Given the description of an element on the screen output the (x, y) to click on. 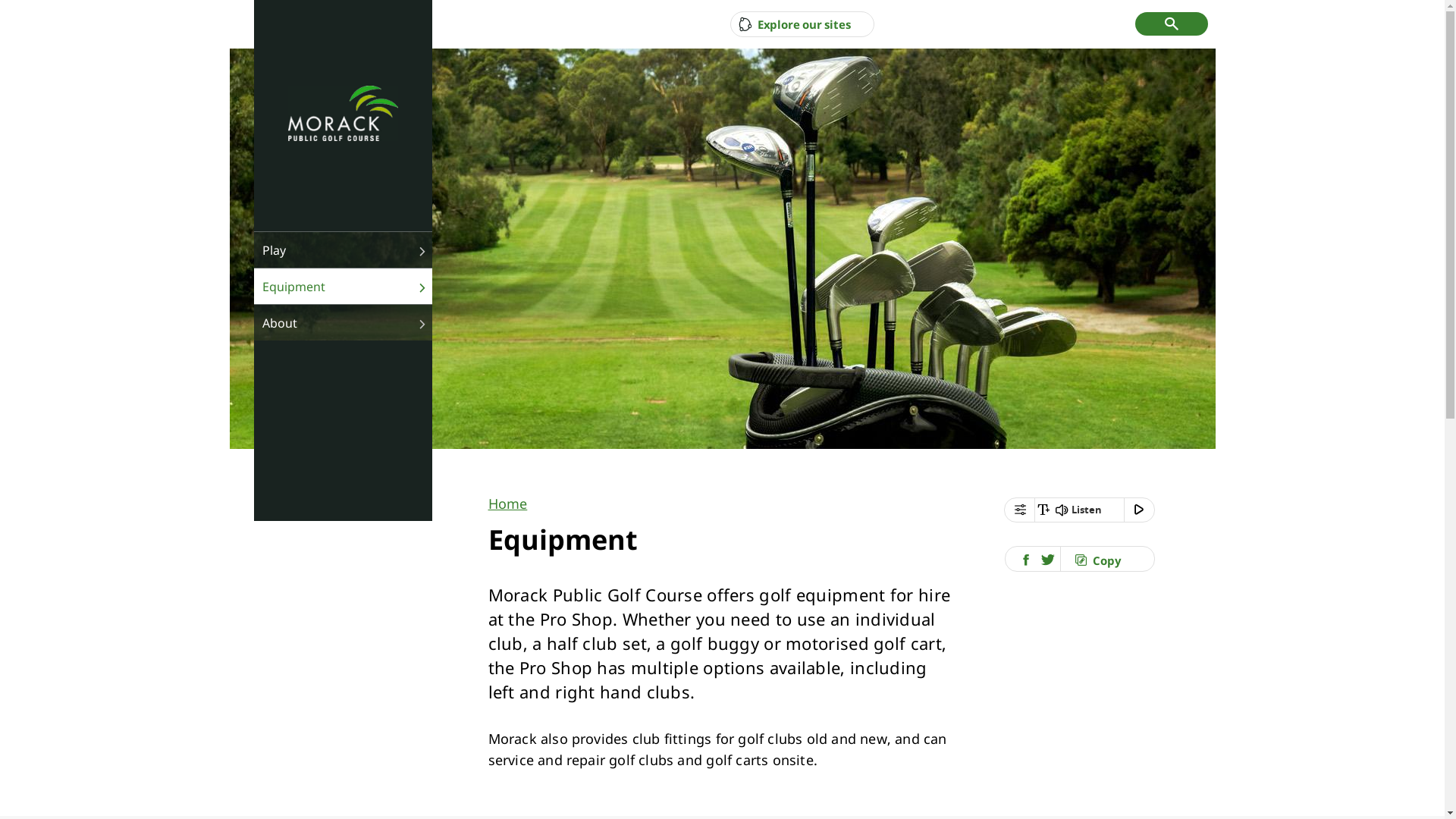
About Element type: text (342, 322)
Equipment Element type: text (342, 285)
Skip to primary navigation Element type: text (6, 6)
Whitehorse city council -- Home Element type: hover (342, 115)
webReader menu Element type: hover (1019, 509)
Home Element type: text (507, 503)
Share this page to facebook Element type: hover (1026, 559)
Share this page to twitter Element type: hover (1047, 559)
Search Element type: hover (1171, 23)
Play Element type: text (342, 249)
Copy Element type: text (1097, 559)
Explore our sites Element type: text (794, 23)
Listen Element type: text (1079, 509)
